Given the description of an element on the screen output the (x, y) to click on. 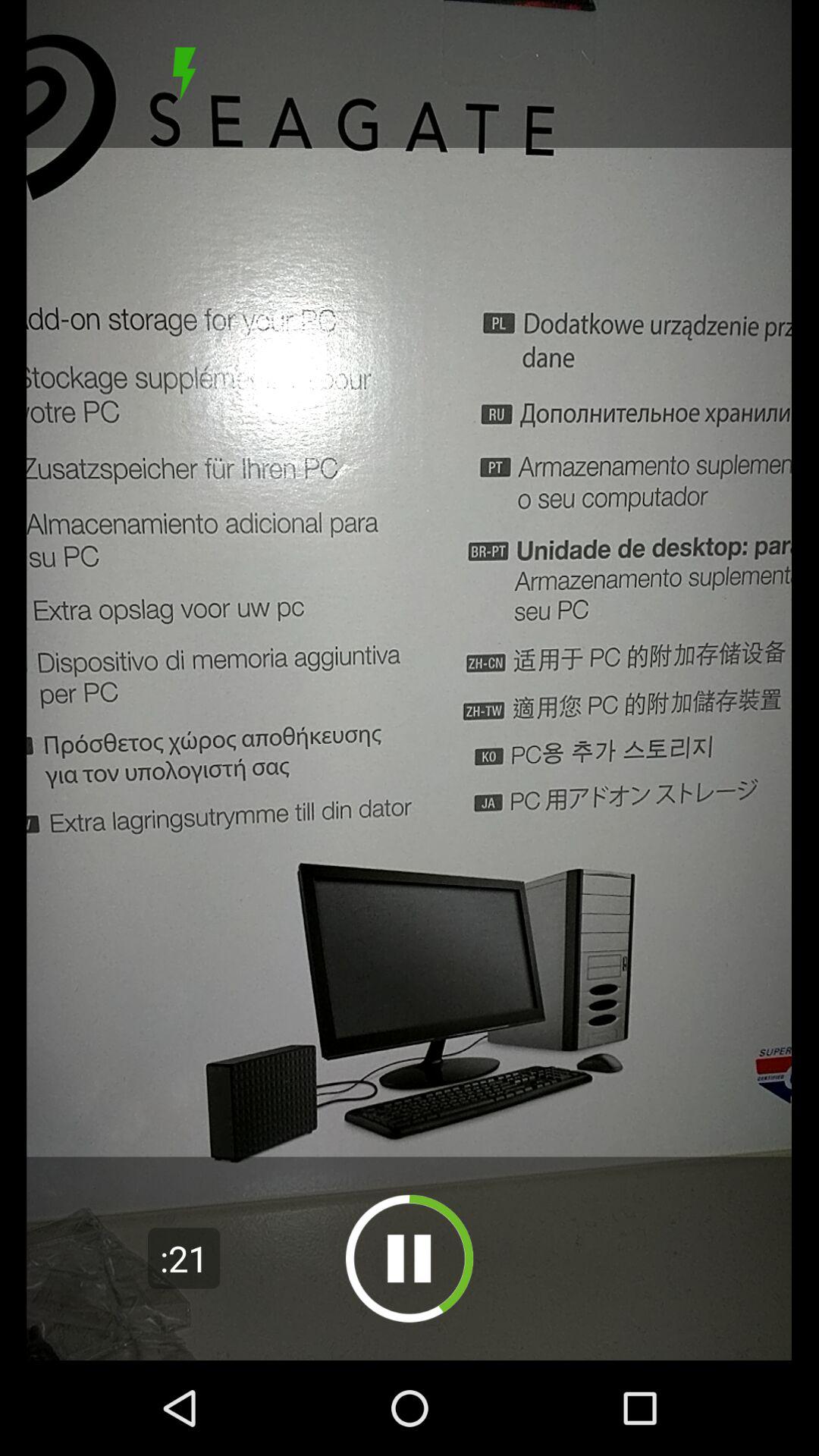
pause/play video button (409, 1258)
